Given the description of an element on the screen output the (x, y) to click on. 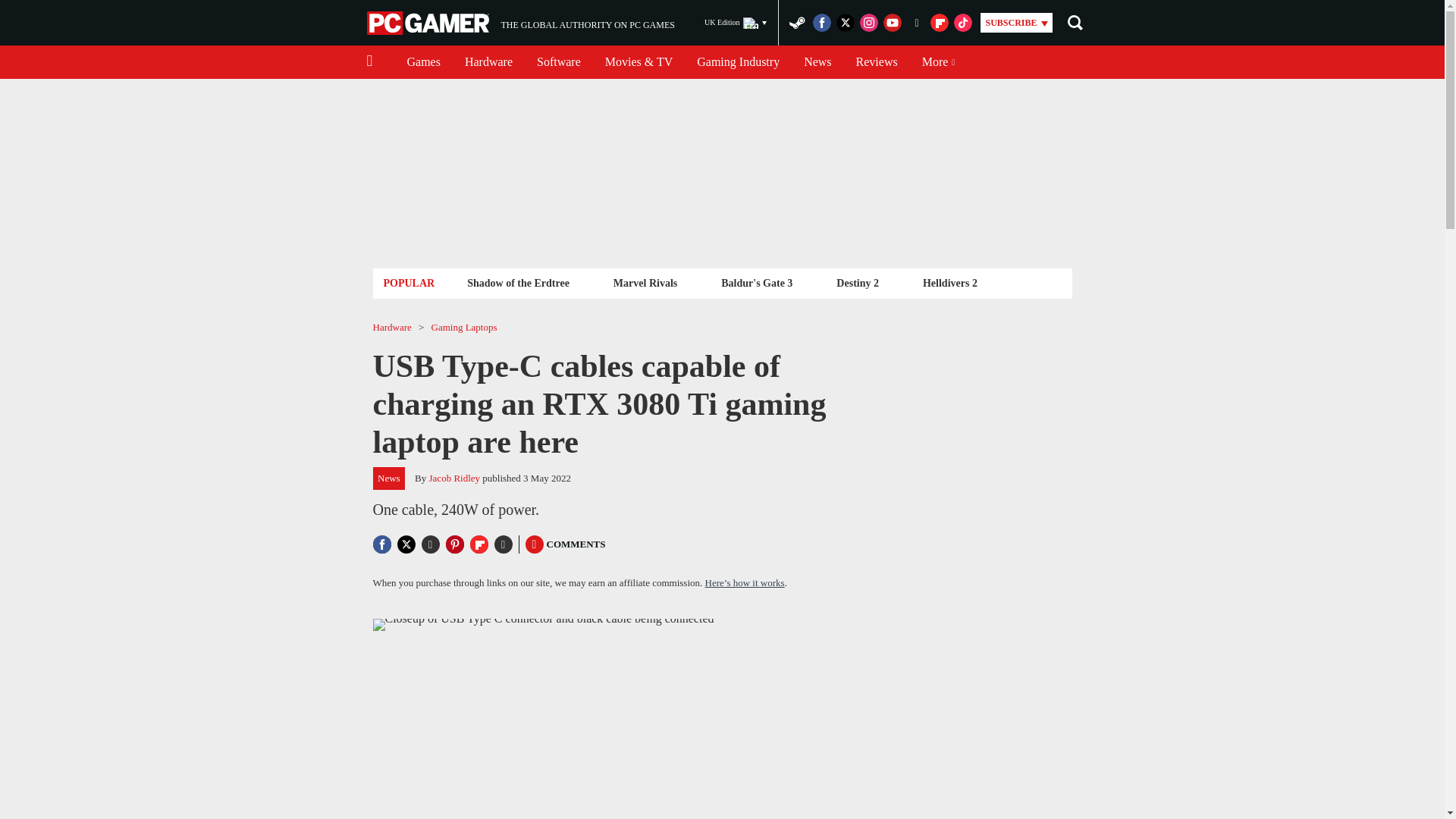
Shadow of the Erdtree (518, 282)
Gaming Industry (738, 61)
Games (422, 61)
News (817, 61)
PC Gamer (429, 22)
Marvel Rivals (520, 22)
Reviews (645, 282)
Hardware (877, 61)
Software (488, 61)
UK Edition (558, 61)
